Given the description of an element on the screen output the (x, y) to click on. 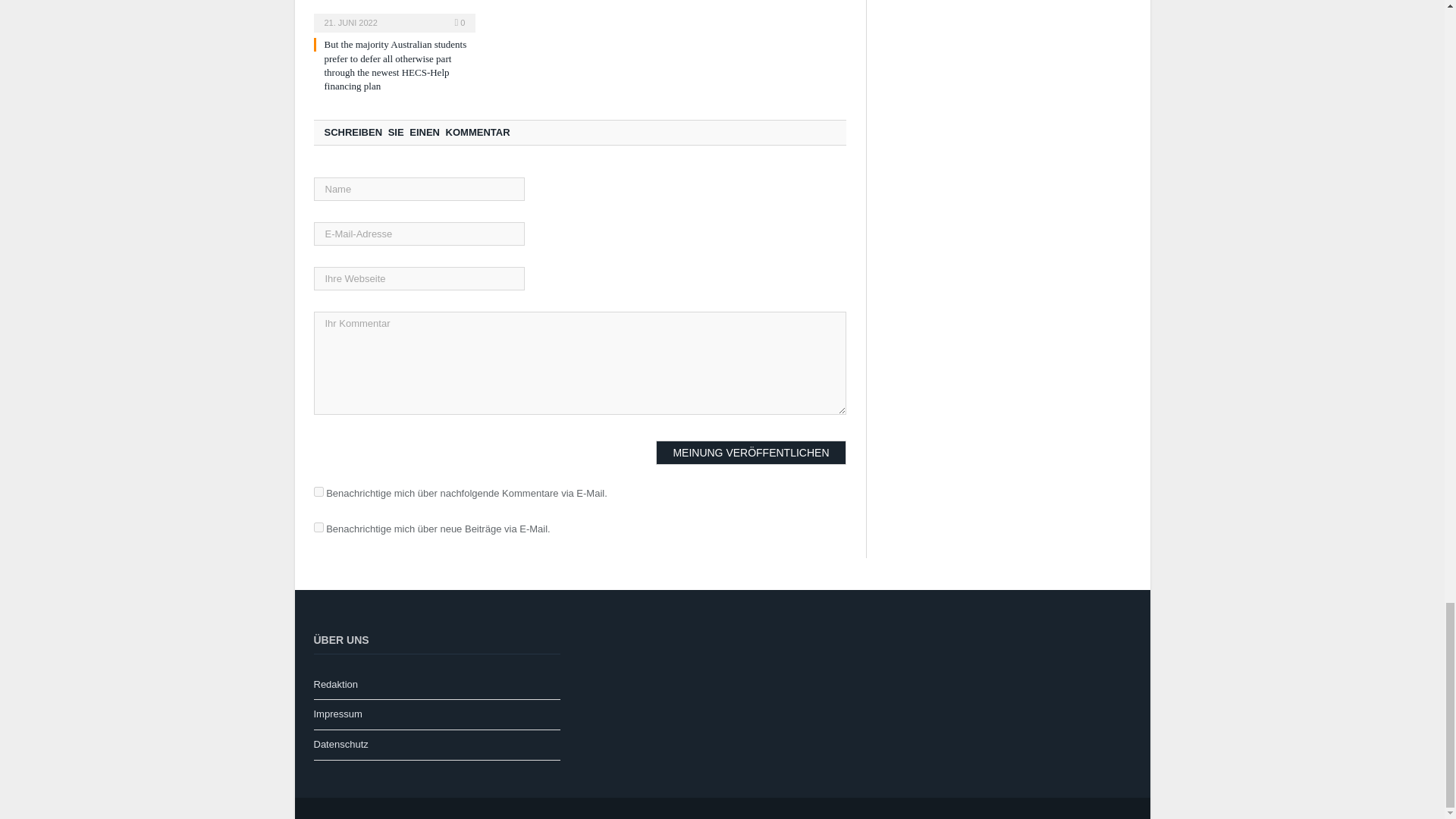
subscribe (318, 527)
subscribe (318, 491)
